Given the description of an element on the screen output the (x, y) to click on. 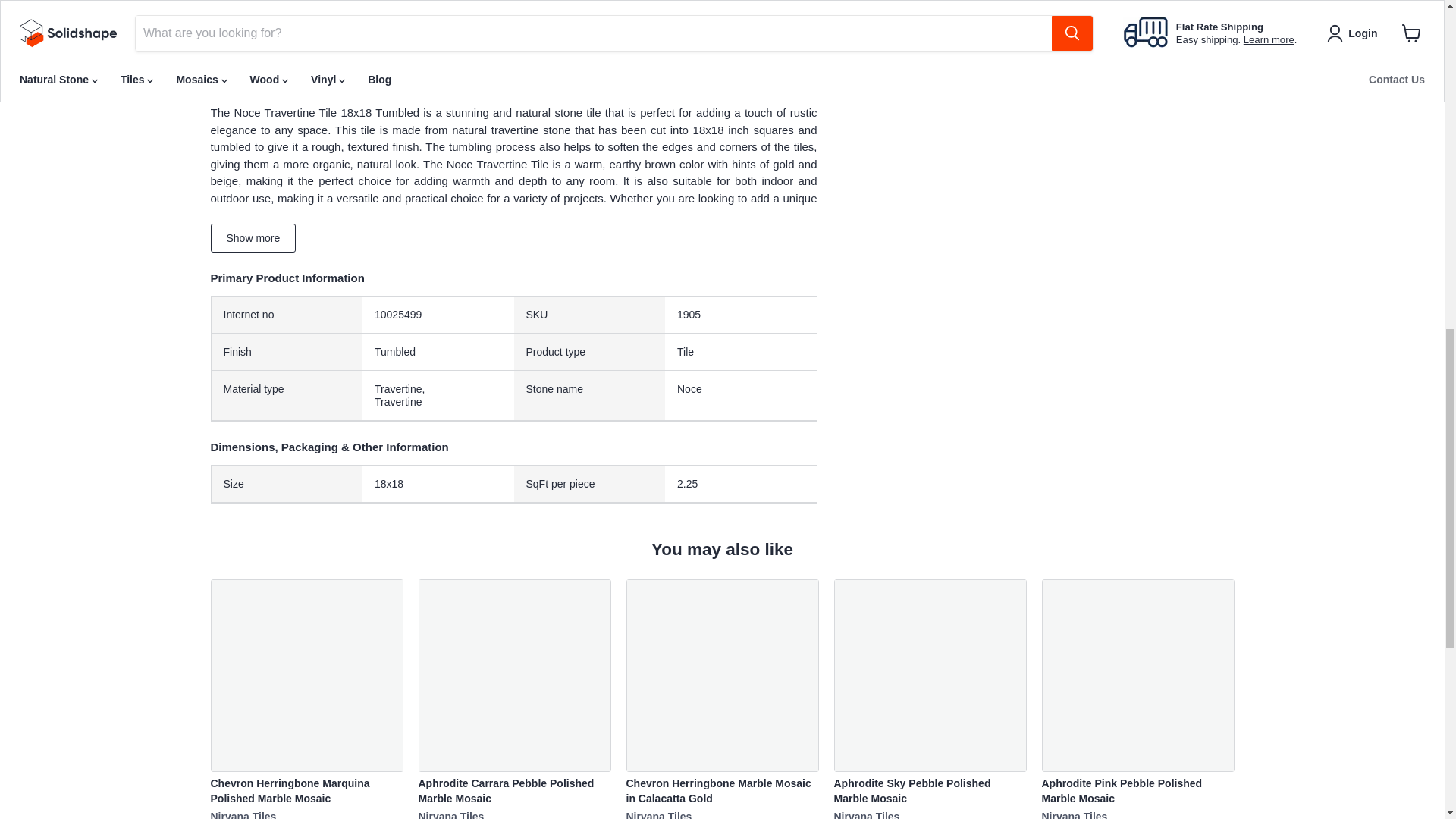
Nirvana Tiles (1075, 814)
Nirvana Tiles (659, 814)
Nirvana Tiles (866, 814)
Nirvana Tiles (451, 814)
Nirvana Tiles (243, 814)
